Given the description of an element on the screen output the (x, y) to click on. 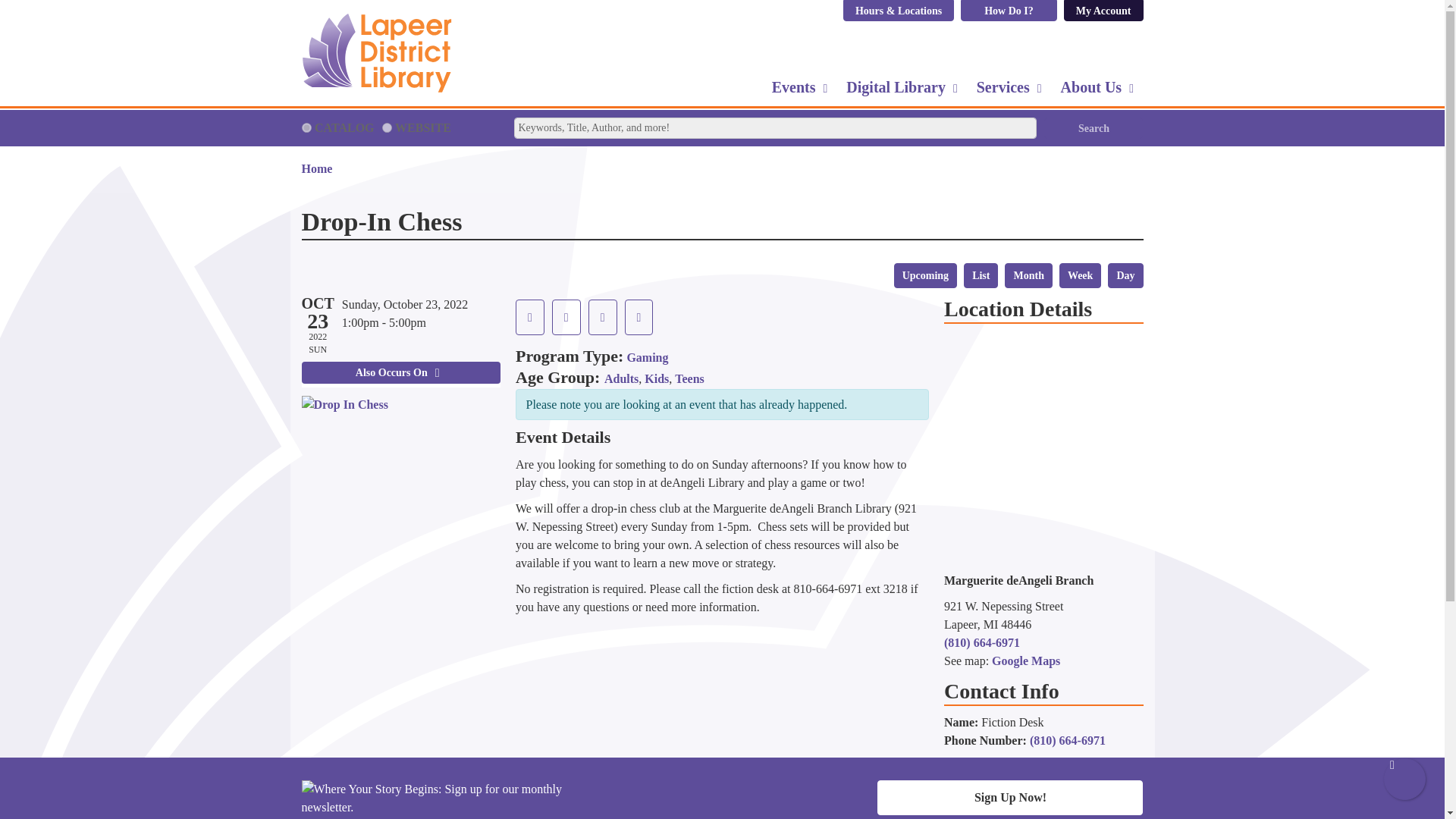
Print this event (602, 316)
Remind Me (529, 316)
Back To Top (1404, 779)
How Do I? (1008, 10)
Home (398, 53)
on (306, 127)
on (386, 127)
Add To My Calendar (565, 316)
My Account (1103, 10)
Share this event (638, 316)
